Given the description of an element on the screen output the (x, y) to click on. 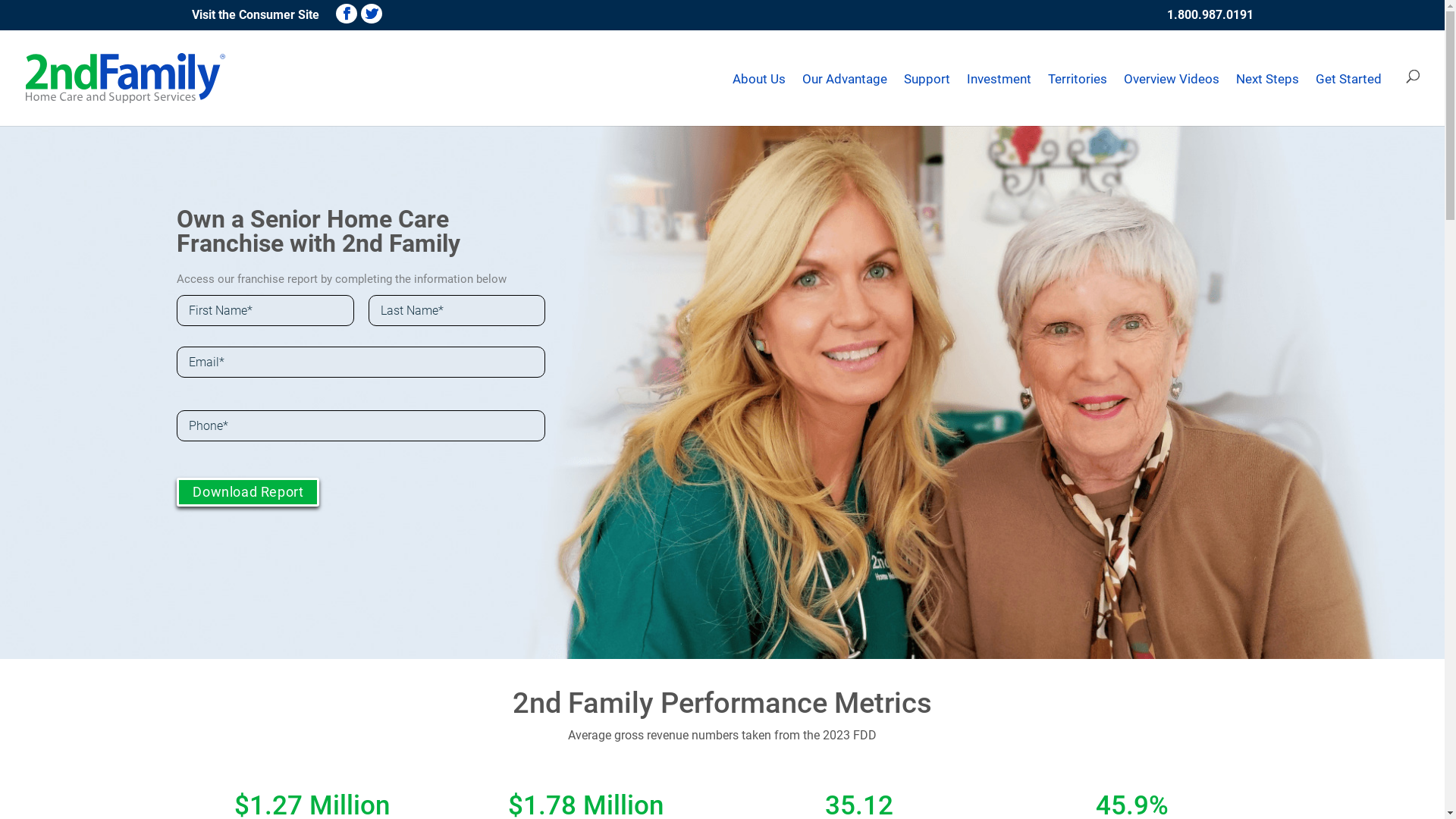
Download Report Element type: text (247, 491)
Our Advantage Element type: text (844, 78)
Next Steps Element type: text (1267, 78)
Investment Element type: text (998, 78)
Support Element type: text (926, 78)
Overview Videos Element type: text (1171, 78)
Get Started Element type: text (1348, 78)
1.800.987.0191 Element type: text (1209, 14)
About Us Element type: text (758, 78)
Visit the Consumer Site Element type: text (256, 14)
Territories Element type: text (1077, 78)
